Given the description of an element on the screen output the (x, y) to click on. 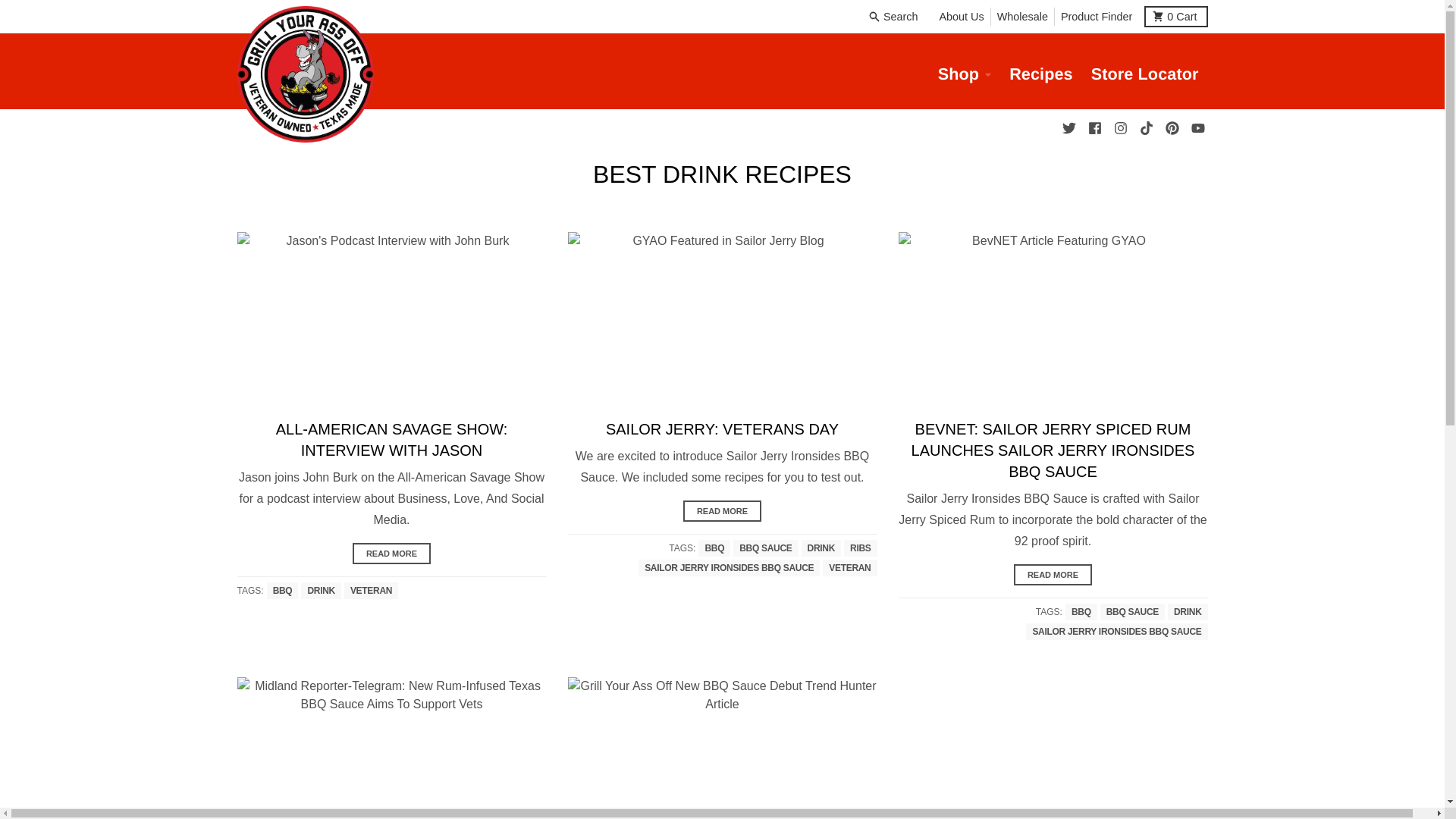
About Us (961, 16)
Wholesale (1022, 16)
Pinterest - Grill Your Ass Off (1170, 127)
Twitter - Grill Your Ass Off (1068, 127)
Search (894, 16)
YouTube - Grill Your Ass Off (1175, 16)
TikTok - Grill Your Ass Off (1197, 127)
Instagram - Grill Your Ass Off (1145, 127)
Product Finder (1119, 127)
